Given the description of an element on the screen output the (x, y) to click on. 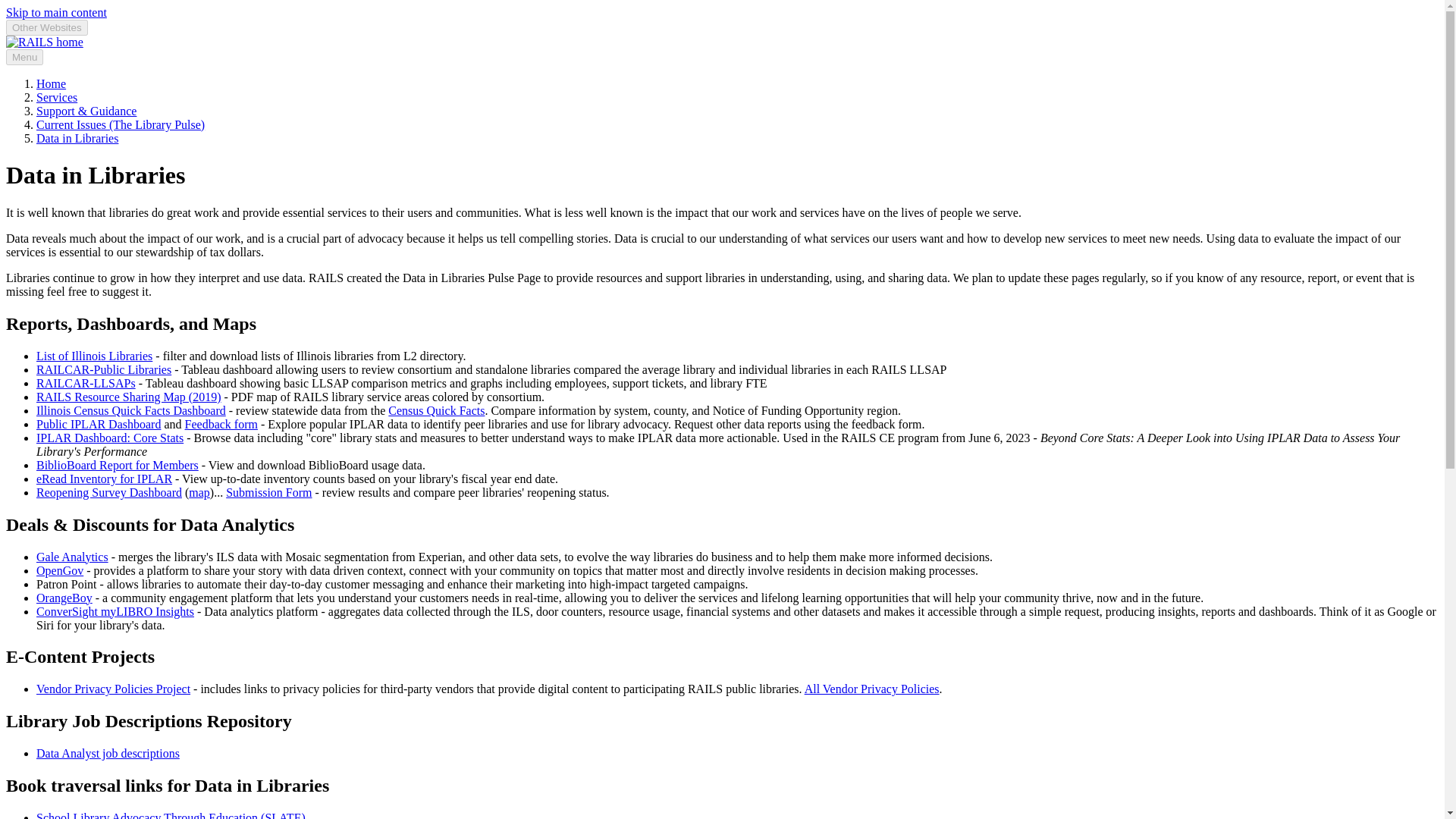
List of Illinois Libraries (94, 355)
RAILCAR-LLSAPs (85, 382)
Menu (24, 57)
All Vendor Privacy Policies (872, 688)
Feedback form (220, 423)
Data Analyst job descriptions (107, 753)
OrangeBoy (64, 597)
Home (50, 83)
eRead Inventory for IPLAR (103, 478)
RAILCAR-Public Libraries (103, 369)
